Given the description of an element on the screen output the (x, y) to click on. 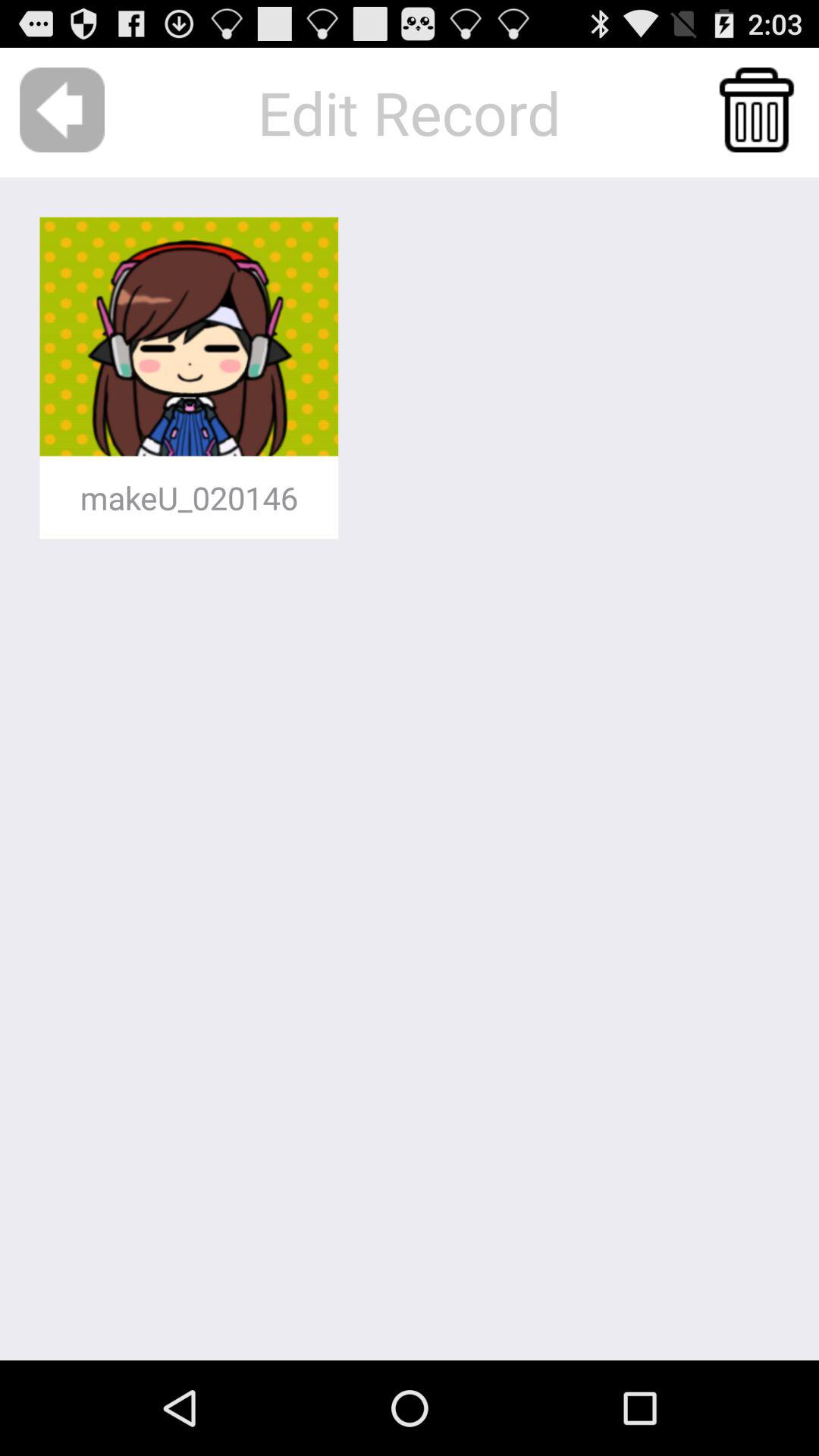
turn on the app to the right of the edit record item (756, 109)
